Given the description of an element on the screen output the (x, y) to click on. 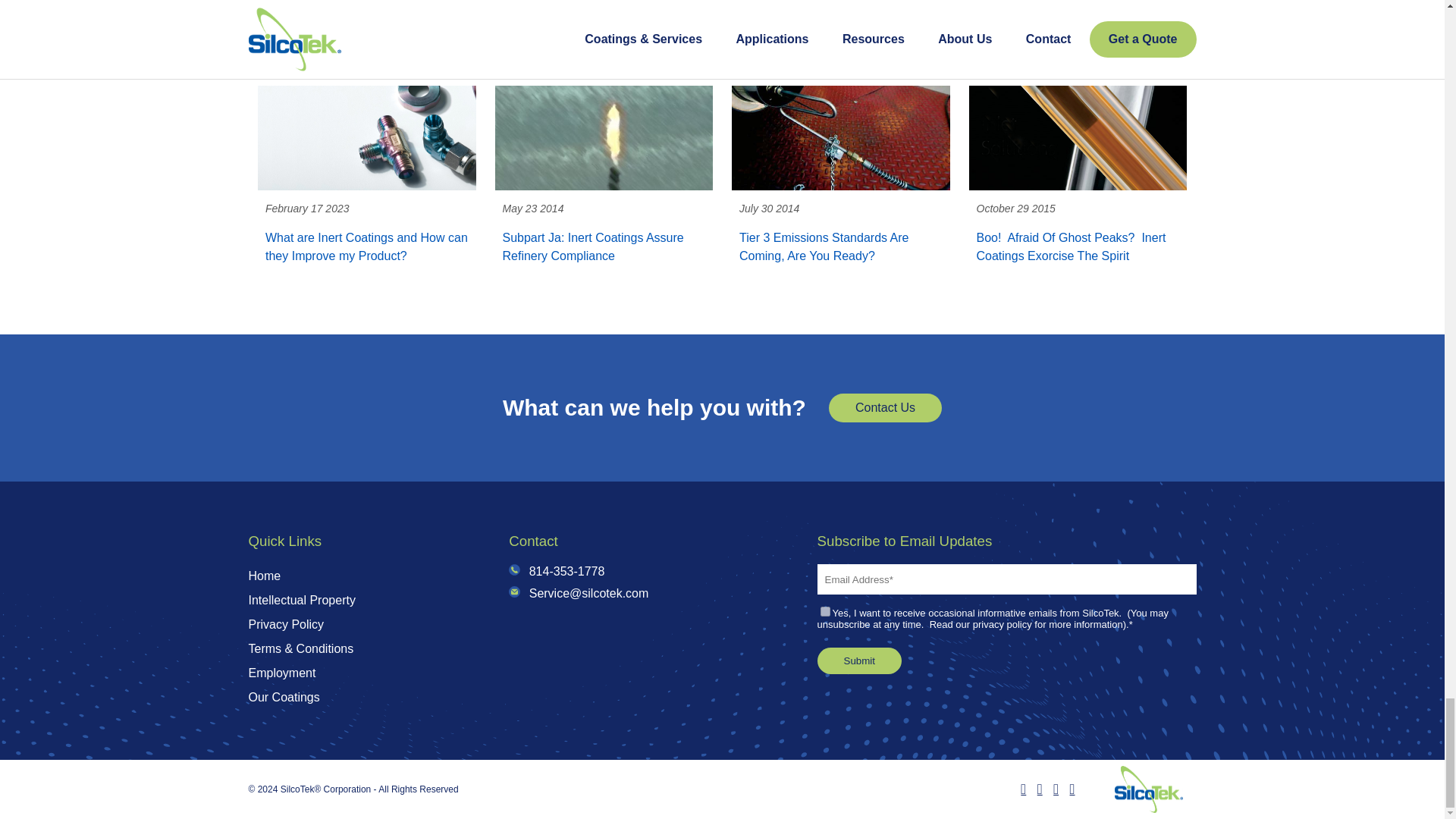
true (825, 611)
Submit (858, 660)
